Given the description of an element on the screen output the (x, y) to click on. 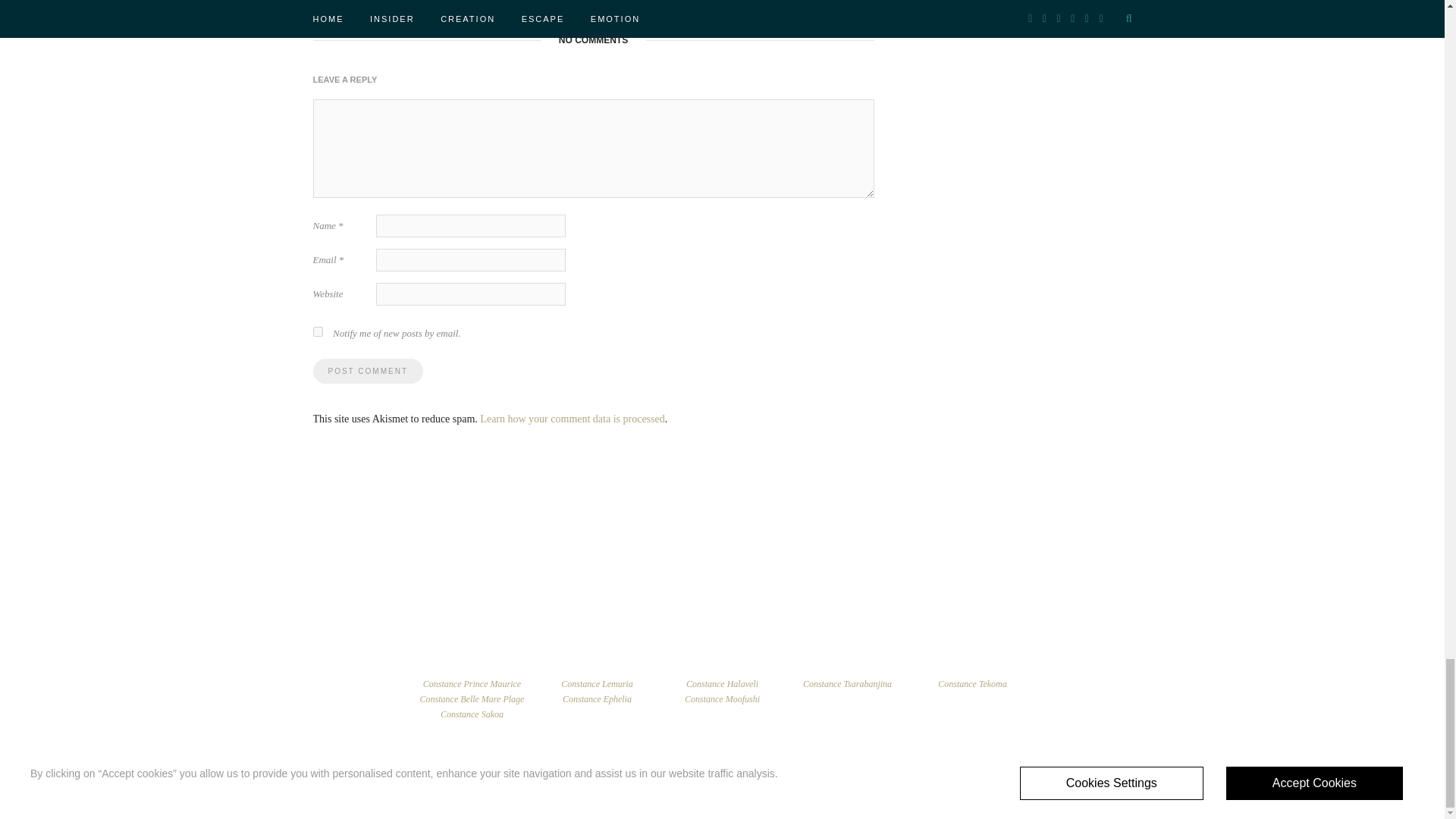
subscribe (317, 331)
Post Comment (367, 371)
